Given the description of an element on the screen output the (x, y) to click on. 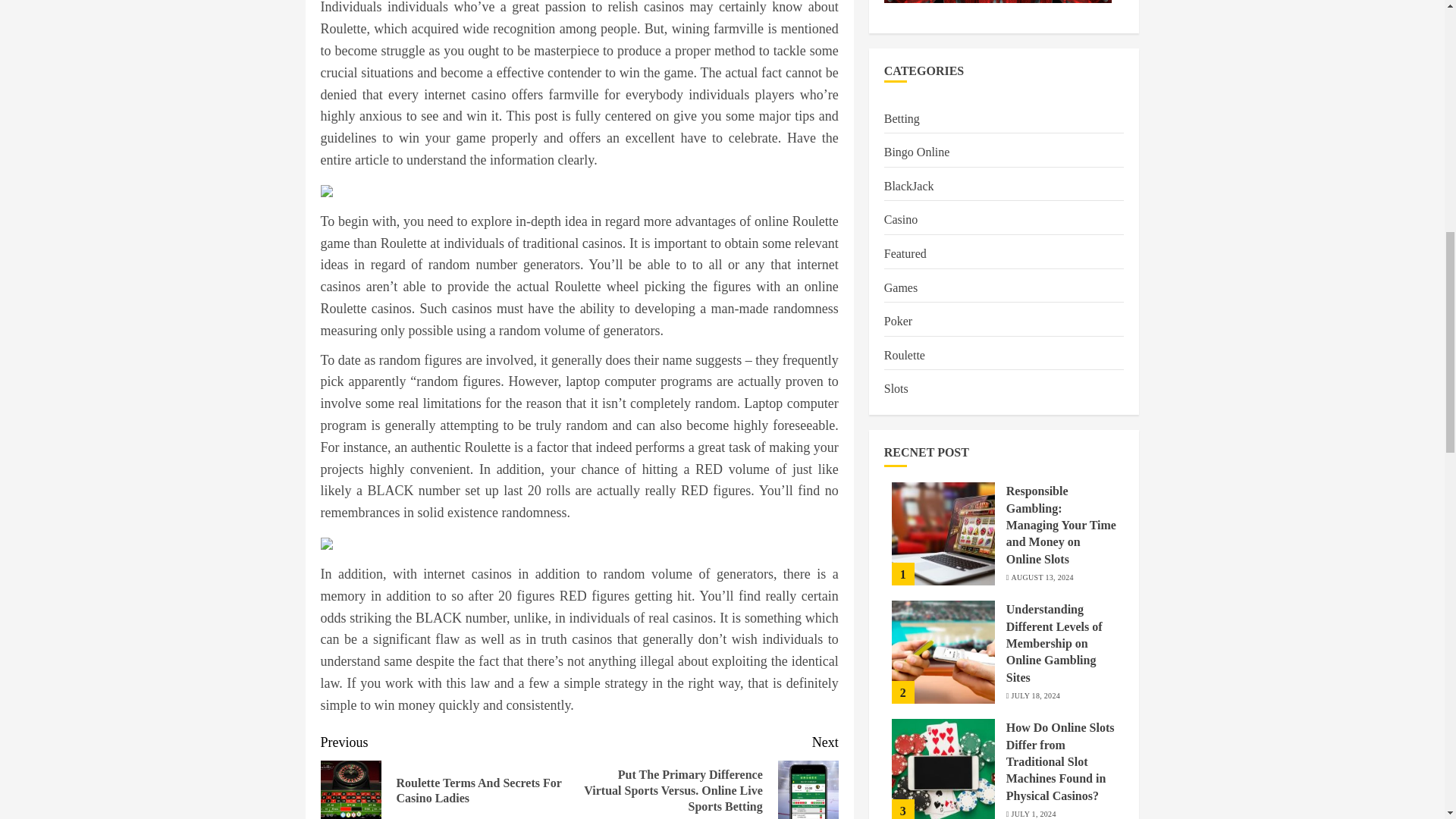
Casino (900, 219)
Betting (901, 118)
BlackJack (908, 186)
Bingo Online (916, 152)
Games (900, 288)
Featured (904, 254)
AUGUST 13, 2024 (1042, 577)
Poker (897, 322)
